Given the description of an element on the screen output the (x, y) to click on. 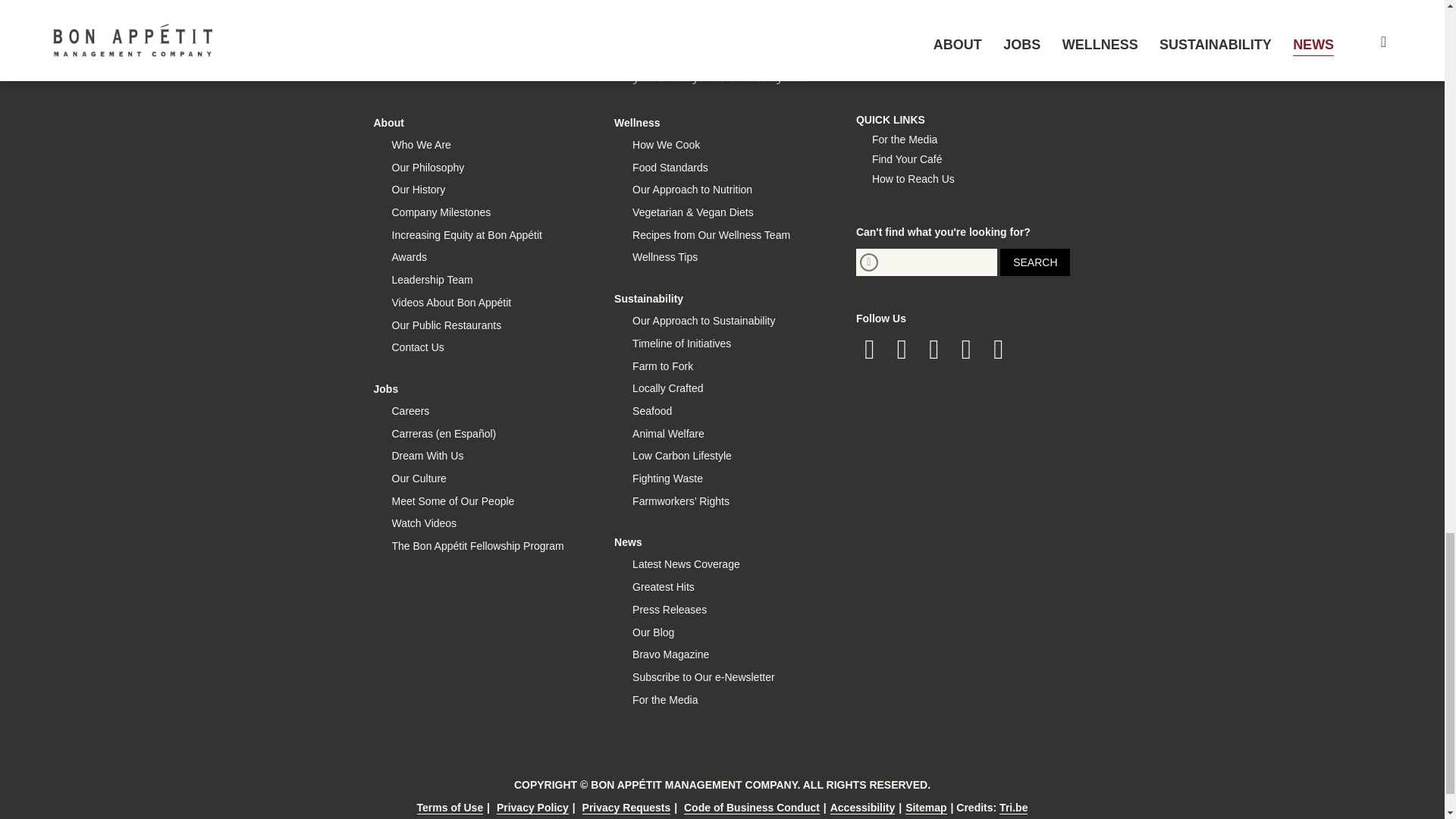
Follow us on Facebook (869, 349)
Follow us on LinkedIn (965, 349)
Search (1035, 262)
Follow us on Twitter (901, 349)
Follow us on Instagram (933, 349)
